Given the description of an element on the screen output the (x, y) to click on. 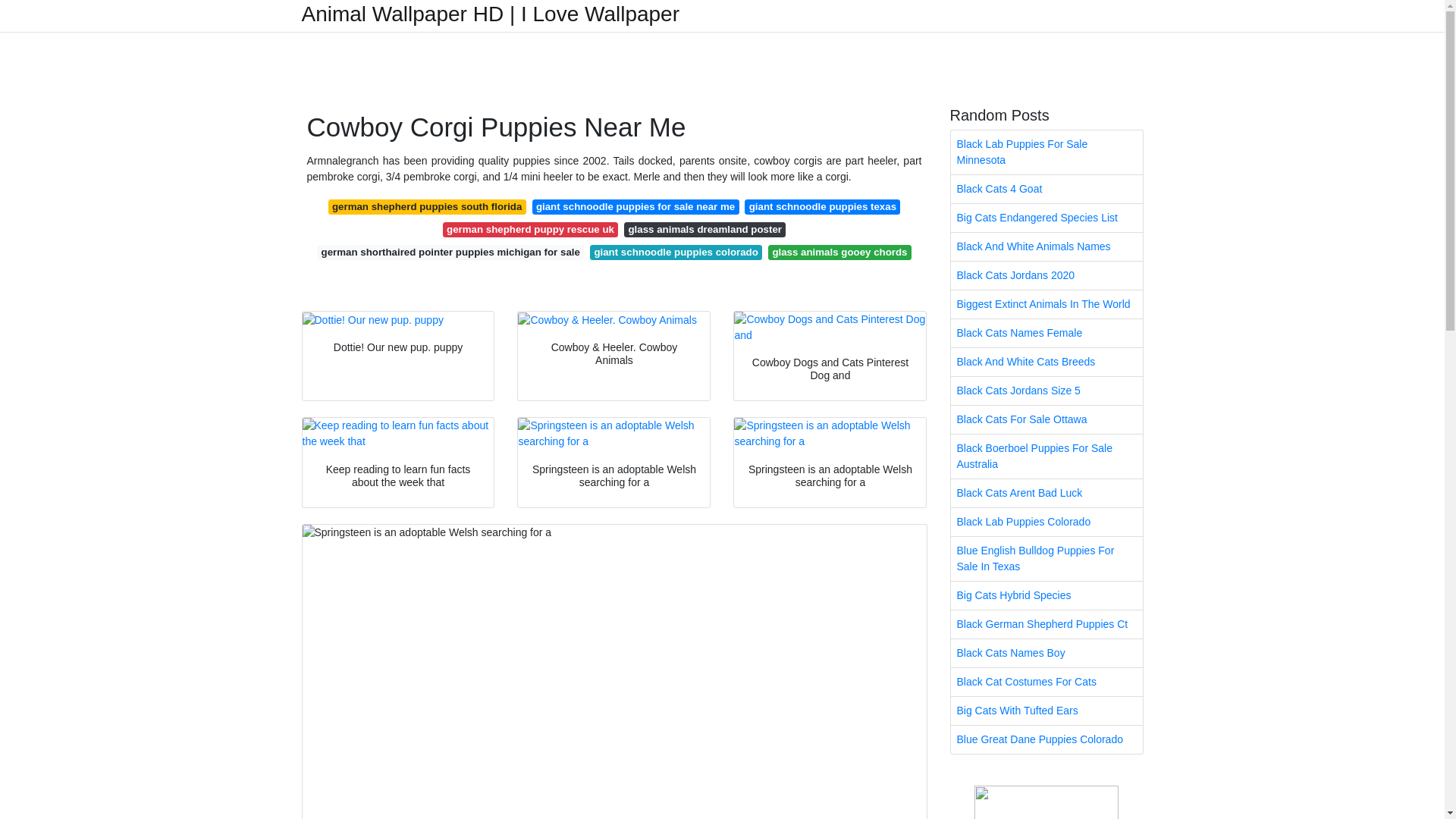
giant schnoodle puppies for sale near me (635, 206)
Black And White Cats Breeds (1046, 361)
german shepherd puppies south florida (427, 206)
Black Cats For Sale Ottawa (1046, 419)
Black Cats Names Female (1046, 333)
glass animals gooey chords (839, 252)
Black Cats 4 Goat (1046, 189)
Black Lab Puppies For Sale Minnesota (1046, 152)
german shorthaired pointer puppies michigan for sale (450, 252)
Big Cats Endangered Species List (1046, 217)
